Given the description of an element on the screen output the (x, y) to click on. 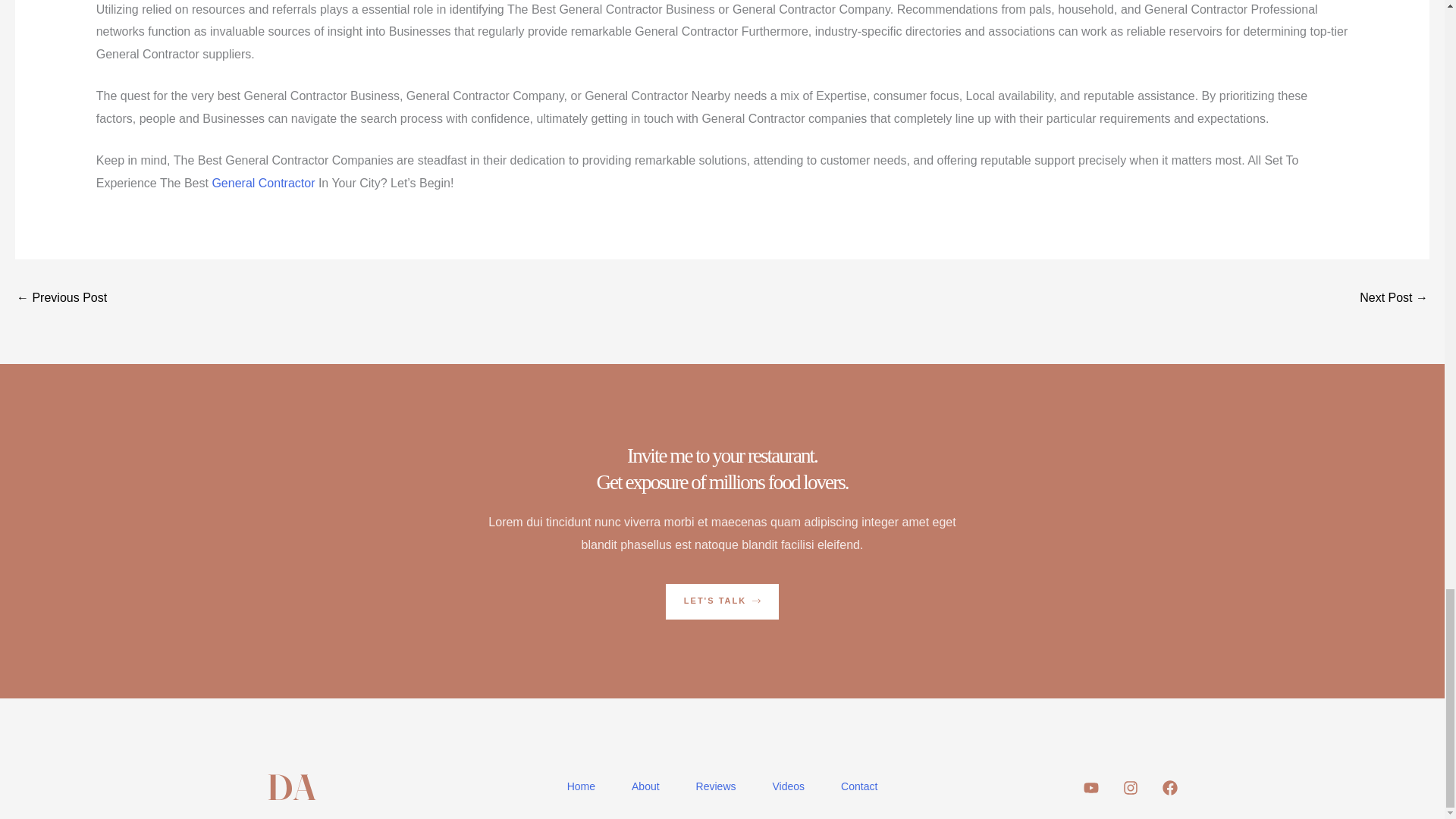
Home (580, 786)
LET'S TALK (721, 601)
General Contractor (262, 182)
About (645, 786)
Reviews (716, 786)
Videos (789, 786)
Contact (858, 786)
